Given the description of an element on the screen output the (x, y) to click on. 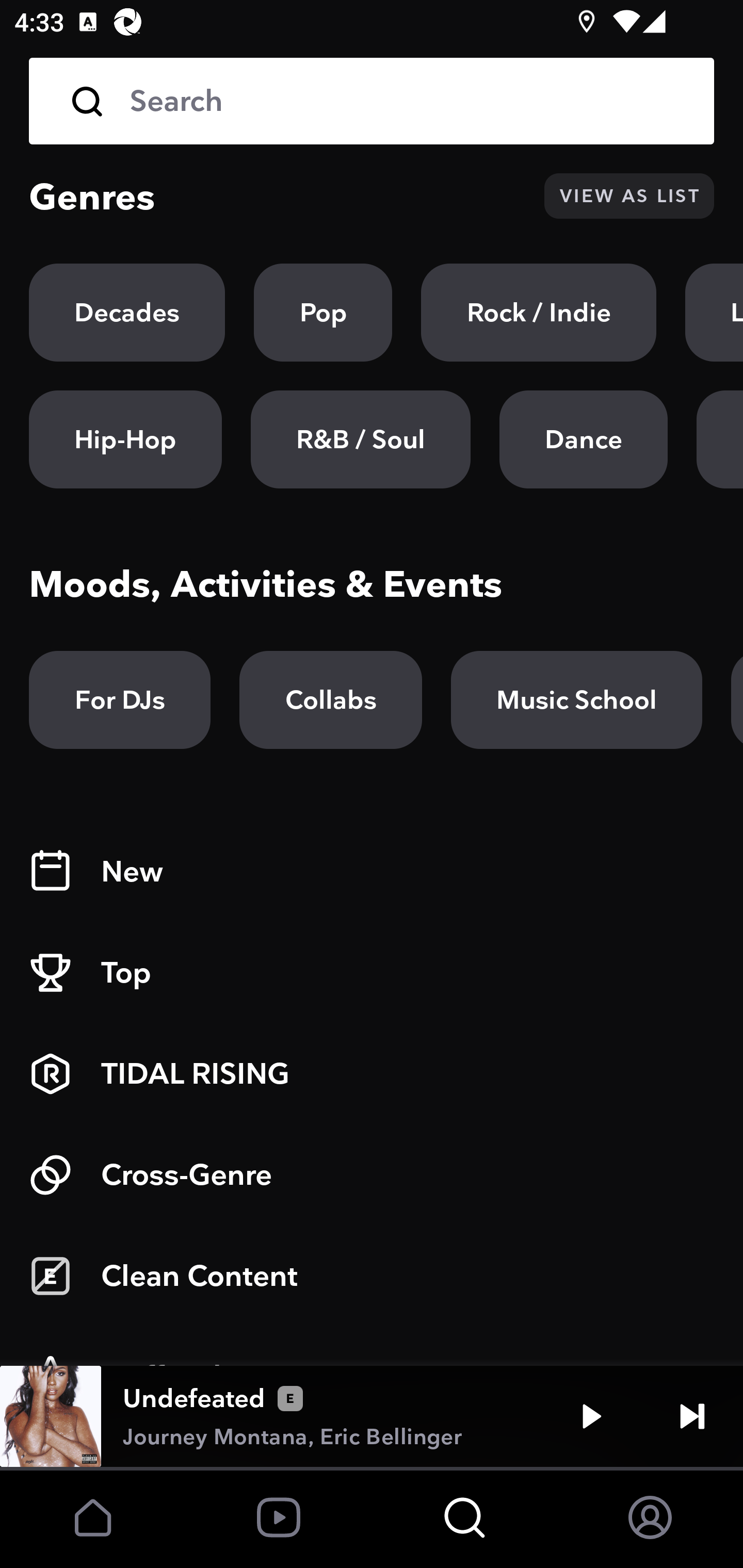
Search (371, 101)
Search (407, 100)
VIEW AS LIST (629, 195)
Decades (126, 312)
Pop (323, 312)
Rock / Indie (538, 312)
Hip-Hop (125, 439)
R&B / Soul (360, 439)
Dance (583, 439)
For DJs (119, 699)
Collabs (330, 699)
Music School (576, 699)
New (371, 871)
Top (371, 972)
TIDAL RISING (371, 1073)
Cross-Genre (371, 1175)
Clean Content (371, 1276)
Undefeated    Journey Montana, Eric Bellinger Play (371, 1416)
Play (590, 1416)
